Given the description of an element on the screen output the (x, y) to click on. 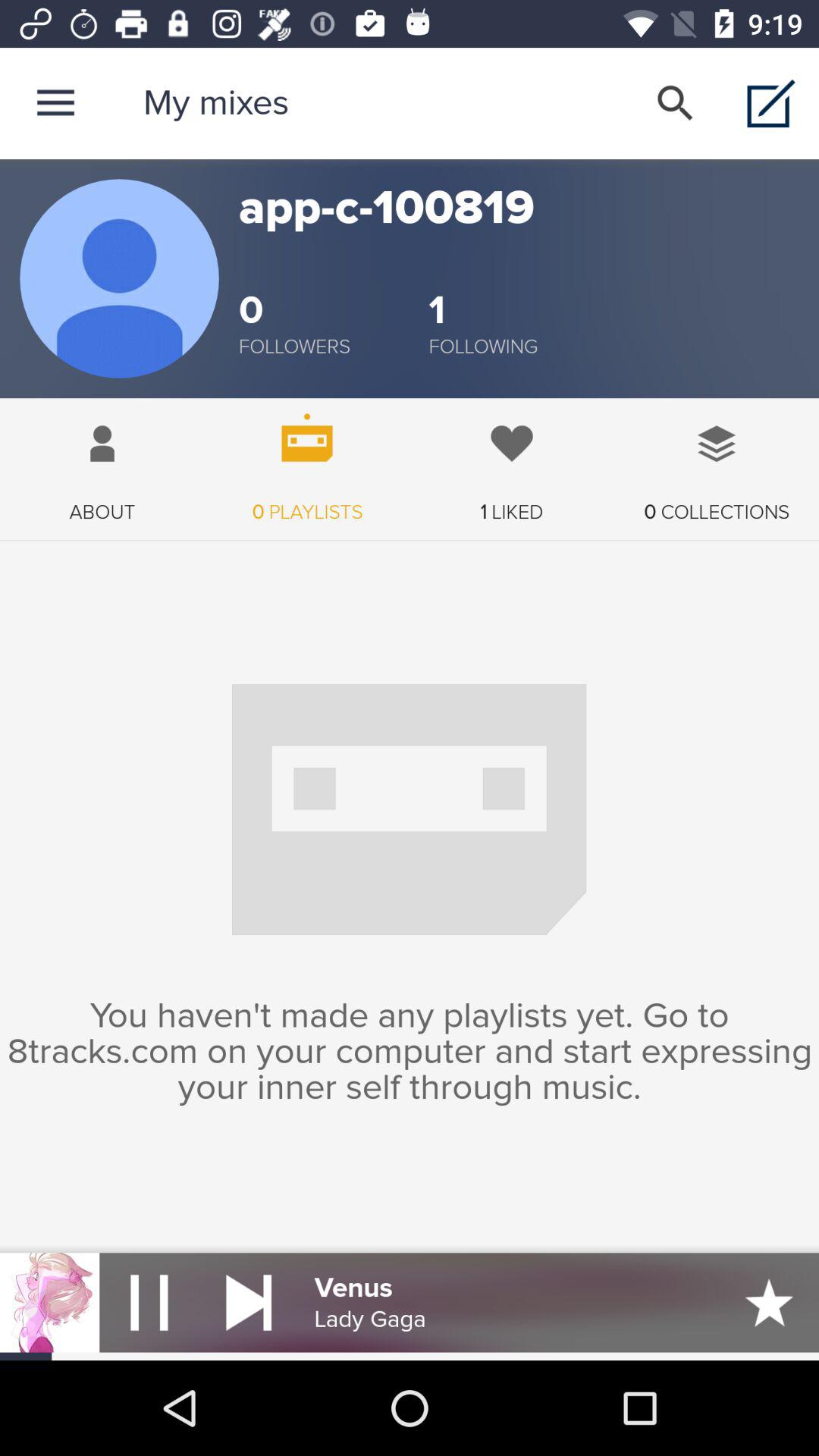
launch icon next to the 0 playlists app (102, 461)
